Given the description of an element on the screen output the (x, y) to click on. 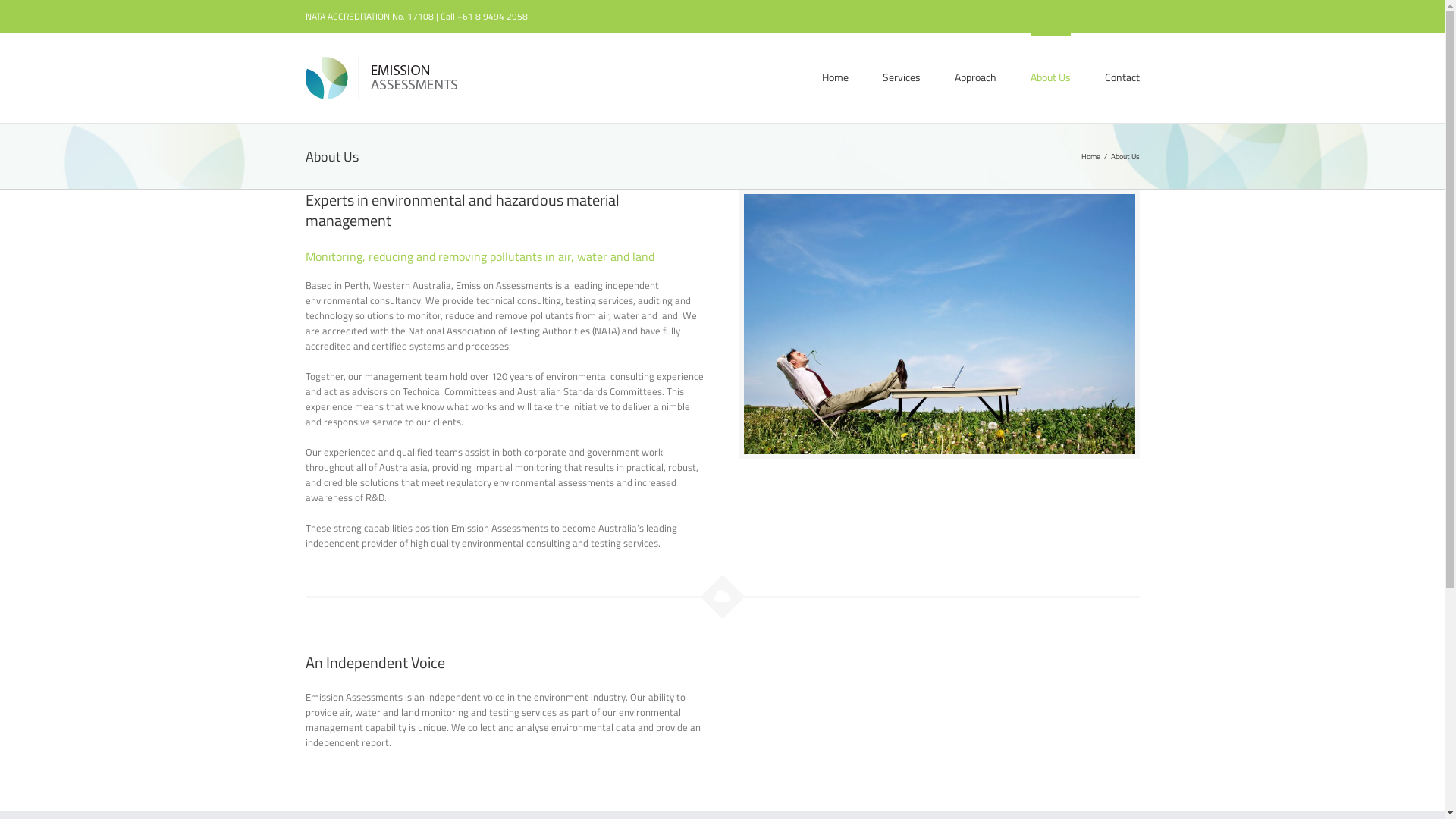
About Us Element type: text (1049, 76)
Approach Element type: text (974, 76)
Contact Element type: text (1121, 76)
Services Element type: text (901, 76)
Home Element type: text (835, 76)
Home Element type: text (1090, 155)
